Given the description of an element on the screen output the (x, y) to click on. 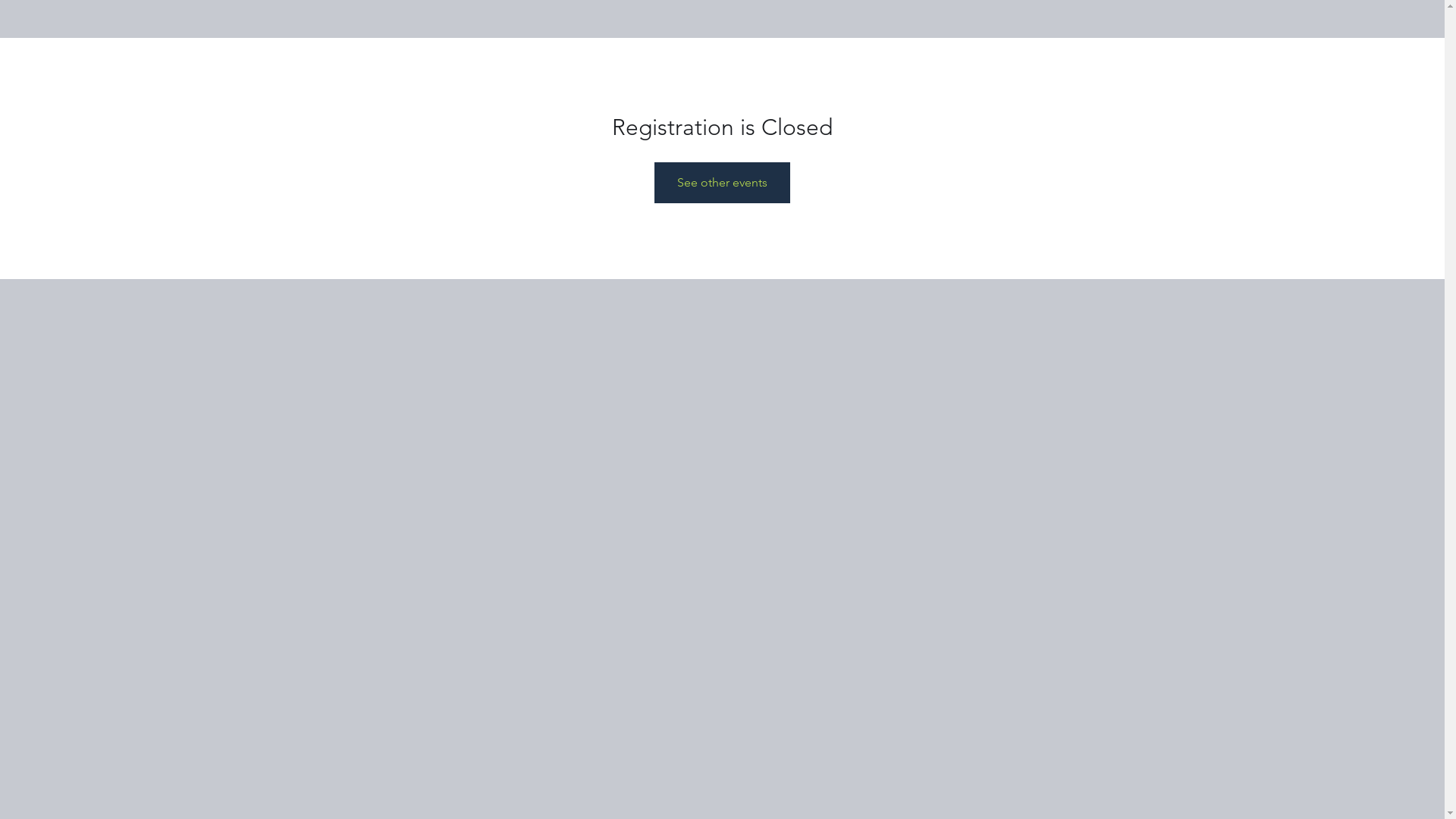
See other events Element type: text (722, 182)
